Given the description of an element on the screen output the (x, y) to click on. 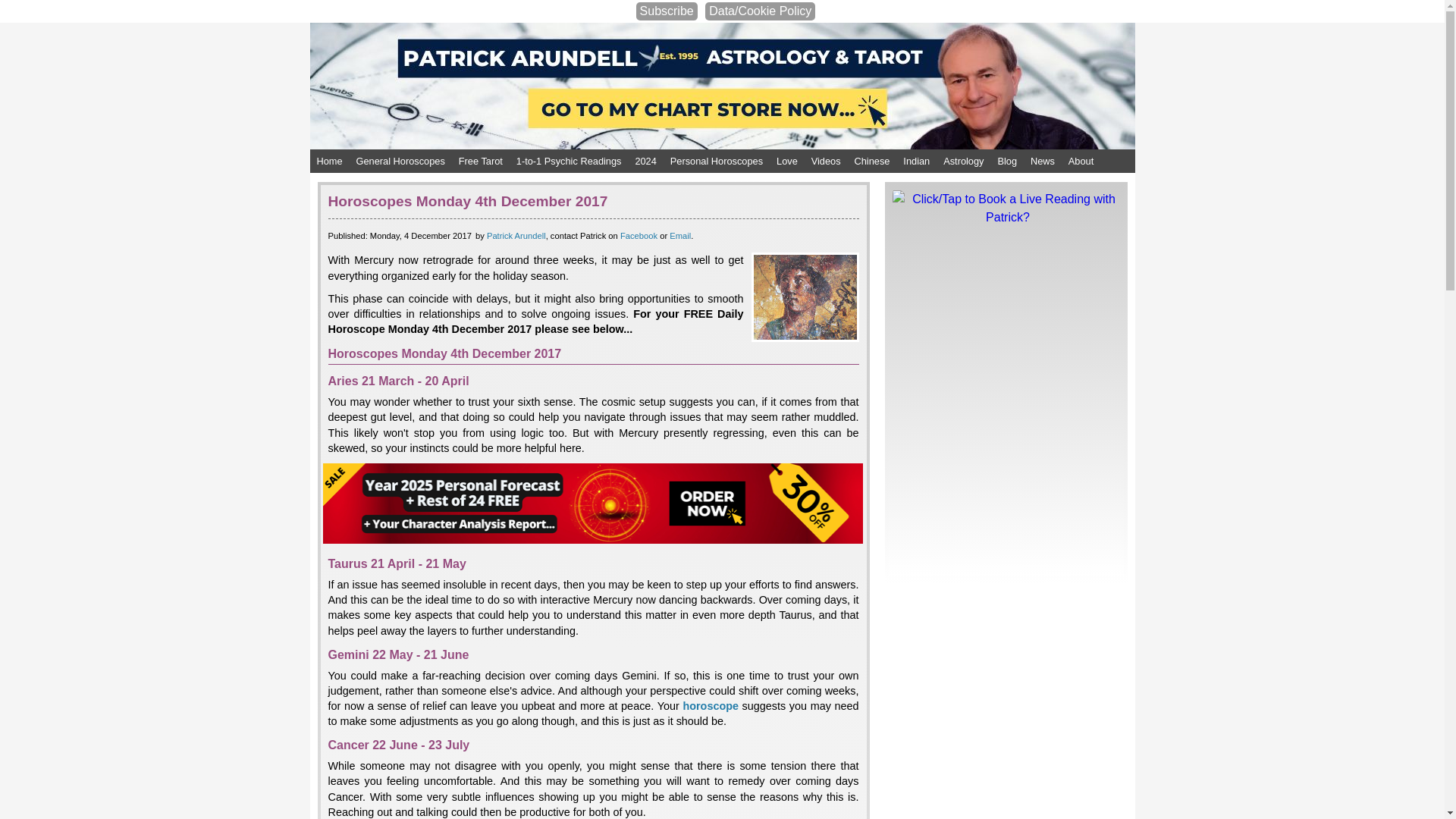
Learn more about Patrick by reading his bio (516, 235)
Click here to Sign Up for my Email Horoscope (666, 11)
General Horoscopes (400, 160)
1-to-1 Psychic Readings (568, 160)
Home (328, 160)
Contact Patrick (679, 235)
Subscribe (666, 11)
Horoscopes Monday 4th December 2017 (805, 296)
Free Tarot (480, 160)
Facebook (639, 235)
